Given the description of an element on the screen output the (x, y) to click on. 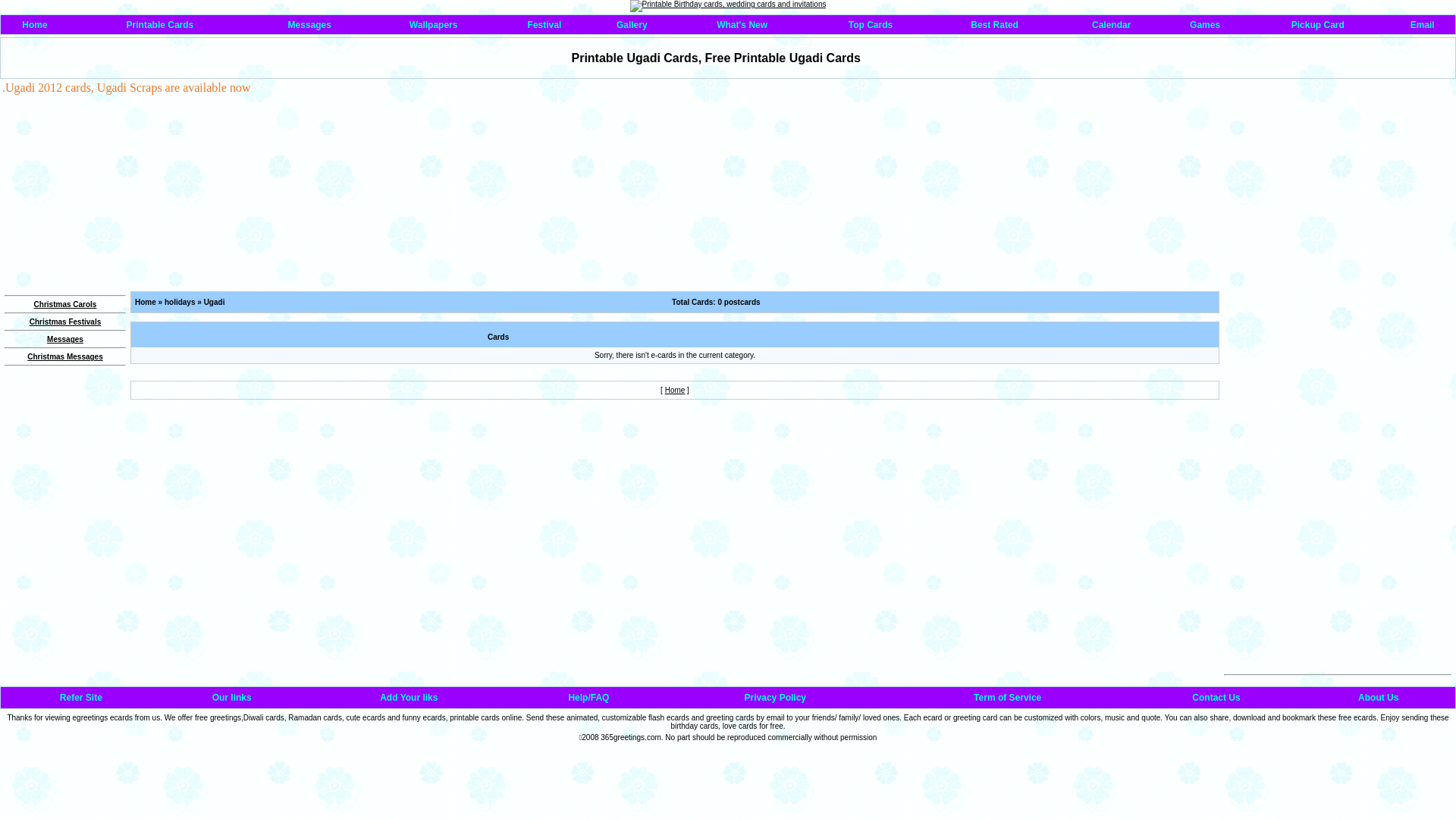
Advertisement Element type: hover (1337, 385)
Help/FAQ Element type: text (587, 697)
Privacy Policy Element type: text (775, 697)
Gallery Element type: text (631, 24)
Add Your liks Element type: text (408, 697)
Messages Element type: text (309, 24)
Ugadi Element type: text (214, 302)
Christmas Messages Element type: text (65, 356)
Home Element type: text (34, 24)
Games Element type: text (1204, 24)
Messages Element type: text (65, 339)
Home Element type: text (145, 302)
Term of Service Element type: text (1007, 697)
Our links Element type: text (231, 697)
holidays Element type: text (179, 302)
Refer Site Element type: text (80, 697)
Advertisement Element type: hover (688, 333)
Printable Cards Element type: text (160, 24)
Contact Us Element type: text (1215, 697)
Pickup Card Element type: text (1317, 24)
Advertisement Element type: hover (126, 189)
About Us Element type: text (1378, 697)
Email Element type: text (1422, 24)
Home Element type: text (675, 389)
Top Cards Element type: text (870, 24)
Christmas Carols Element type: text (65, 304)
Christmas Festivals Element type: text (65, 321)
Wallpapers Element type: text (433, 24)
Festival Element type: text (544, 24)
What's New Element type: text (741, 24)
Advertisement Element type: hover (1337, 575)
Calendar Element type: text (1111, 24)
Best Rated Element type: text (994, 24)
